Given the description of an element on the screen output the (x, y) to click on. 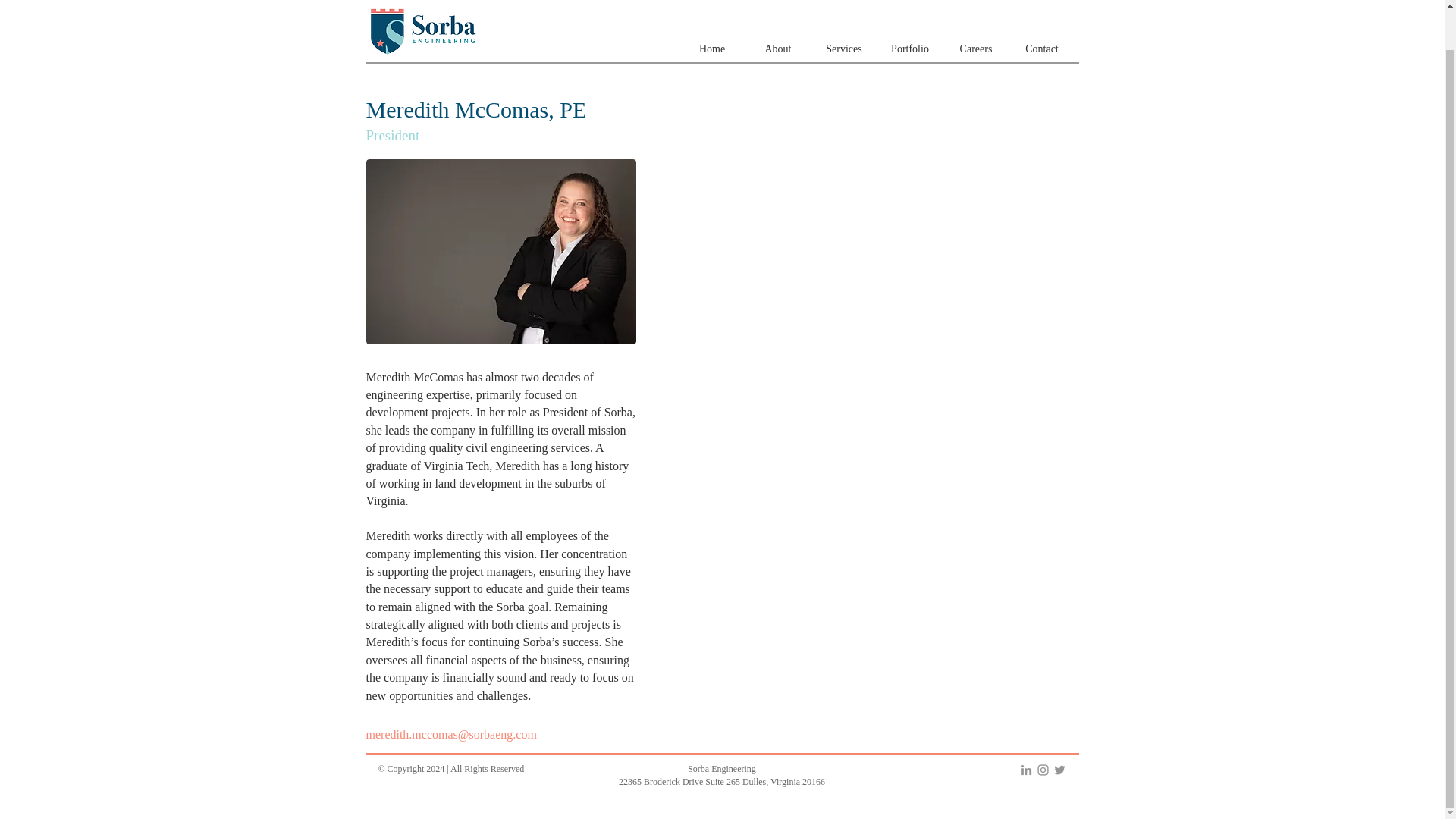
Careers (976, 49)
About (777, 49)
Home (712, 49)
Contact (1041, 49)
Services (843, 49)
Portfolio (909, 49)
